Given the description of an element on the screen output the (x, y) to click on. 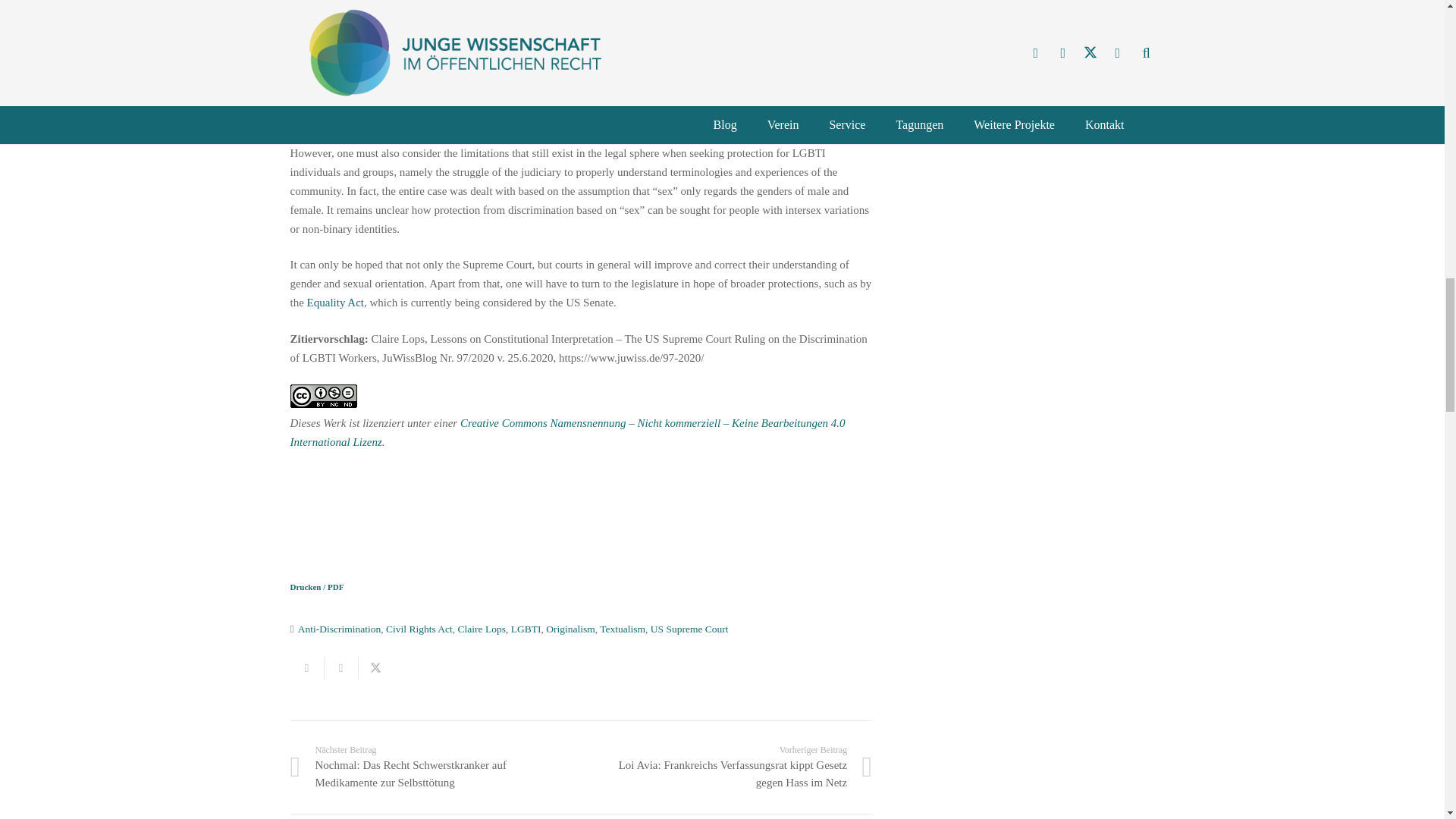
Tweete das (374, 667)
Teile dies (341, 667)
E-Mail senden (306, 667)
